Given the description of an element on the screen output the (x, y) to click on. 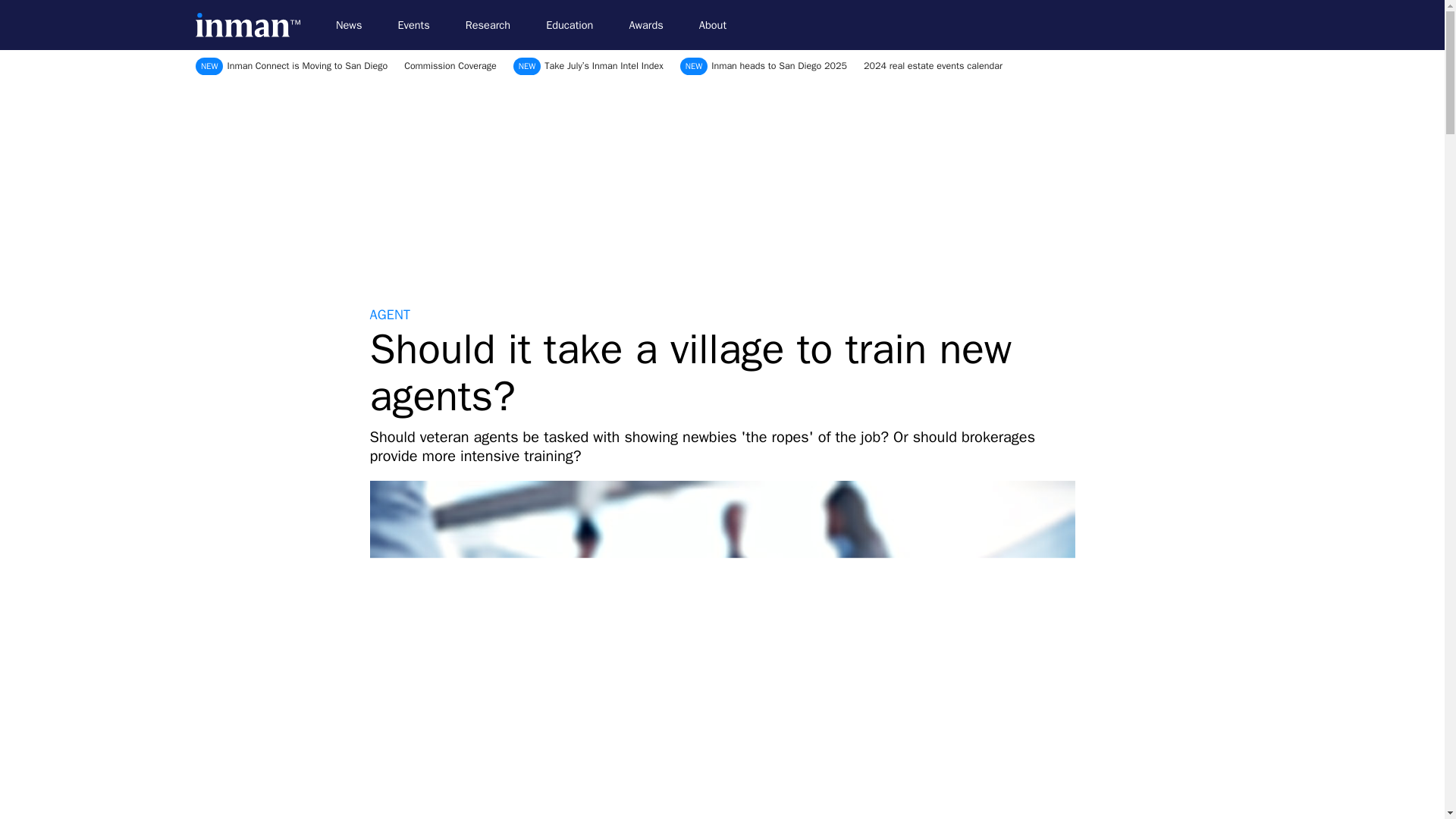
Education (575, 25)
News (355, 25)
Research (493, 25)
Awards (651, 25)
Events (419, 25)
